Given the description of an element on the screen output the (x, y) to click on. 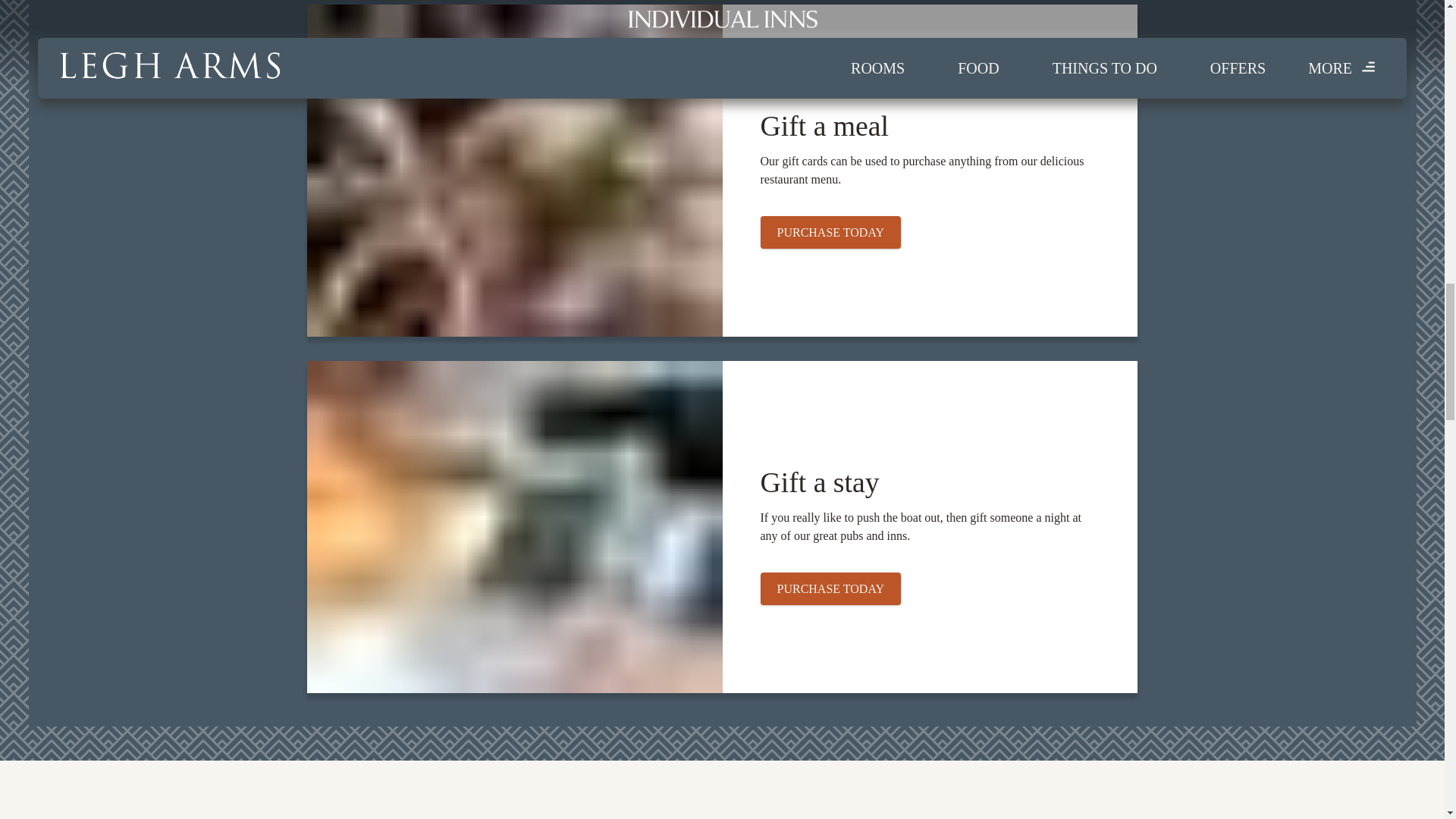
PURCHASE TODAY (830, 232)
PURCHASE TODAY (830, 231)
PURCHASE TODAY (830, 587)
PURCHASE TODAY (830, 588)
